Given the description of an element on the screen output the (x, y) to click on. 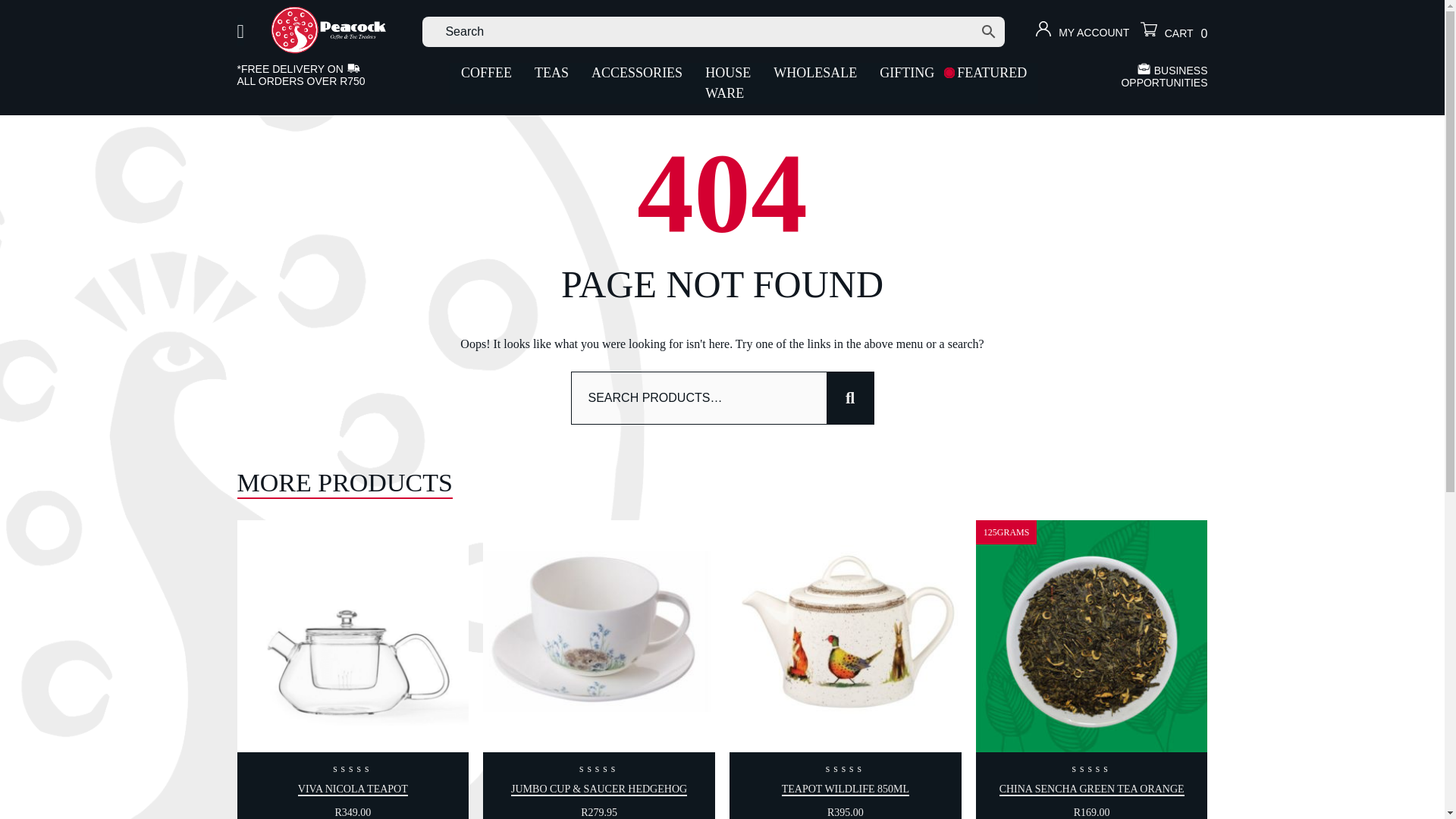
COFFEE (485, 73)
GIFTING (905, 73)
WHOLESALE (814, 73)
TEAS (550, 73)
FEATURED (991, 73)
HOUSE WARE (727, 83)
ACCESSORIES (636, 73)
MY ACCOUNT (1082, 32)
